Given the description of an element on the screen output the (x, y) to click on. 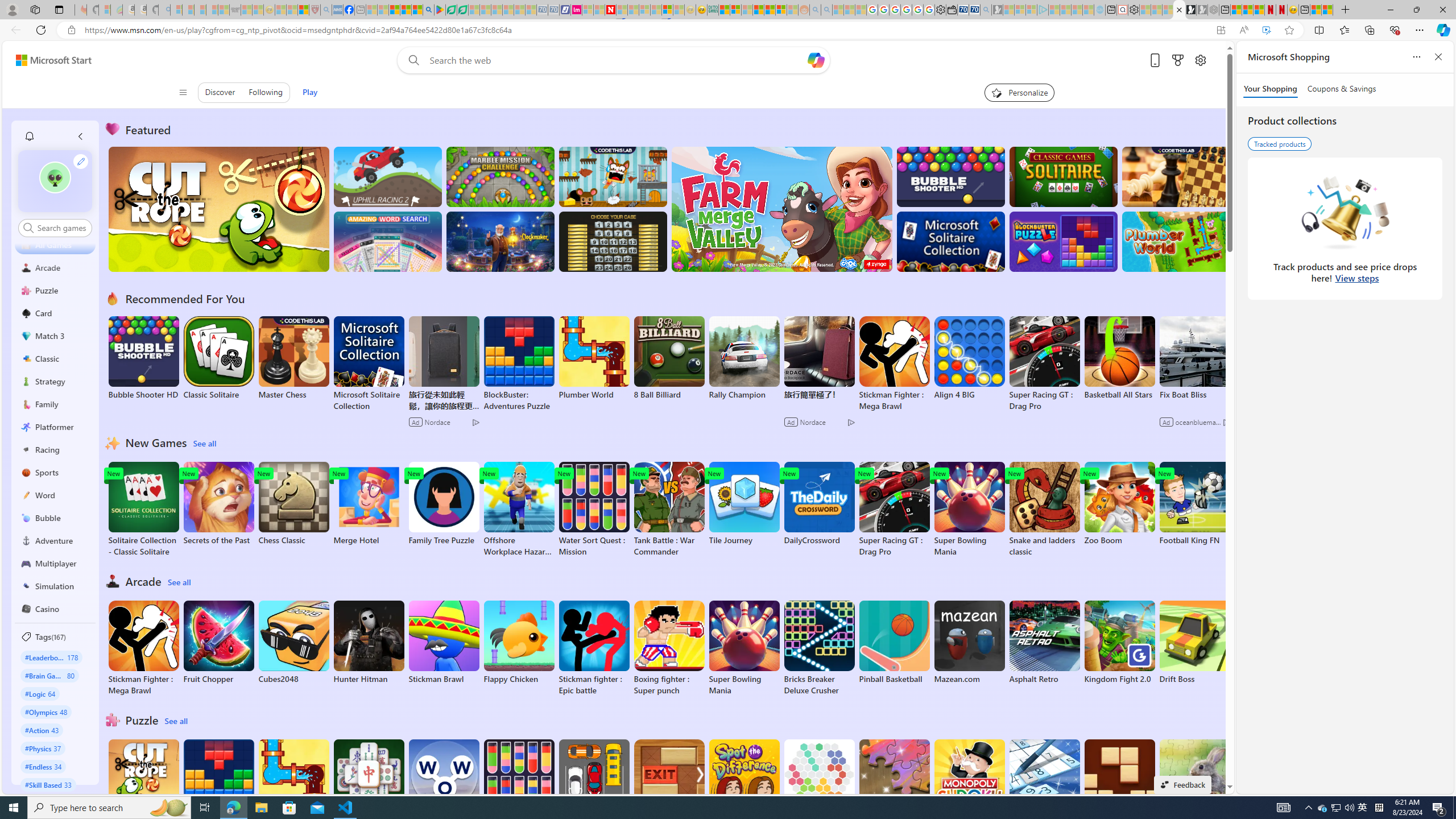
Class: search-icon (28, 227)
Stickman Fighter : Mega Brawl (143, 648)
Football King FN (1194, 503)
Fruit Chopper (218, 642)
#Logic 64 (39, 693)
